Given the description of an element on the screen output the (x, y) to click on. 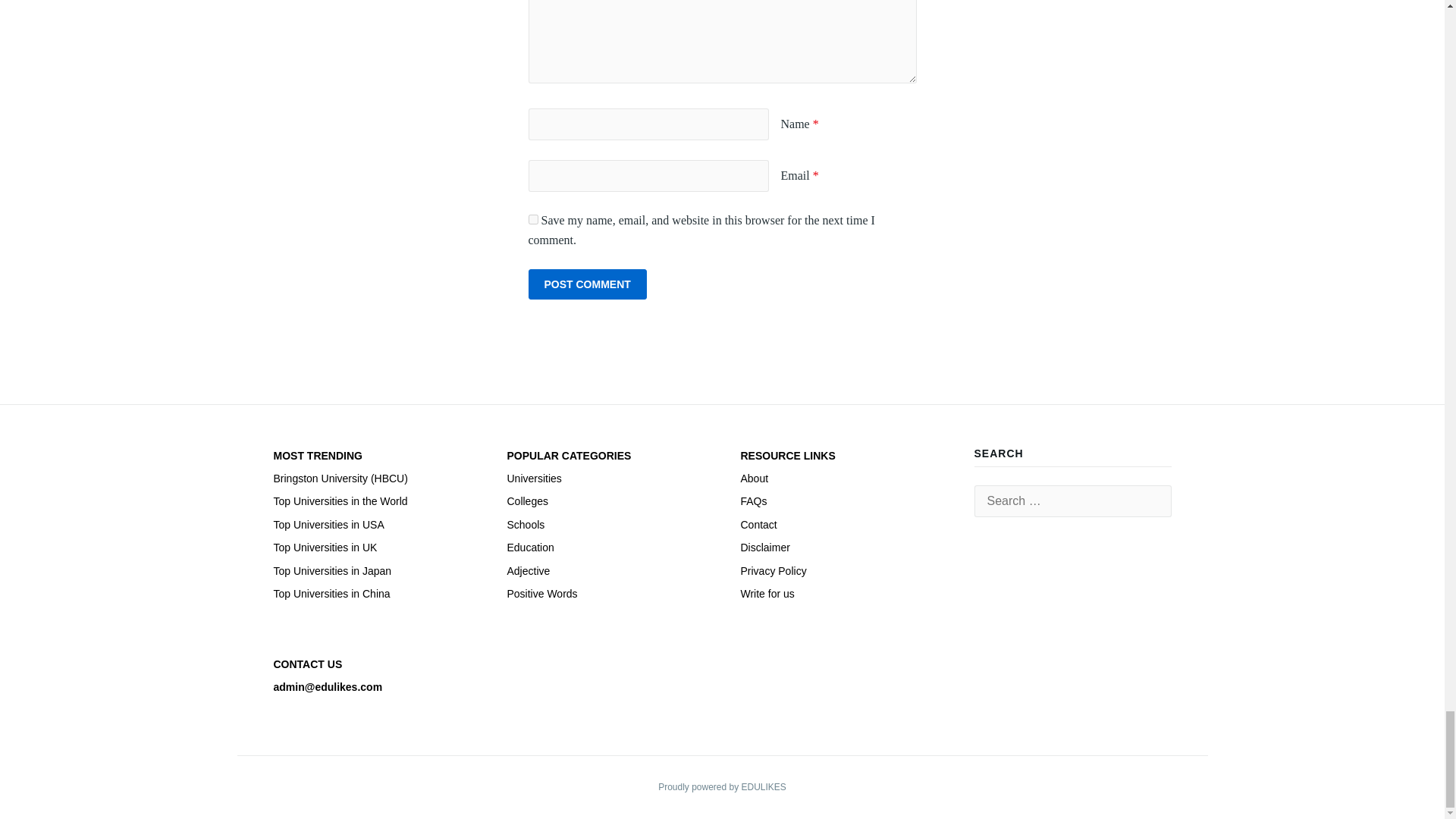
Post Comment (586, 284)
yes (532, 219)
